Given the description of an element on the screen output the (x, y) to click on. 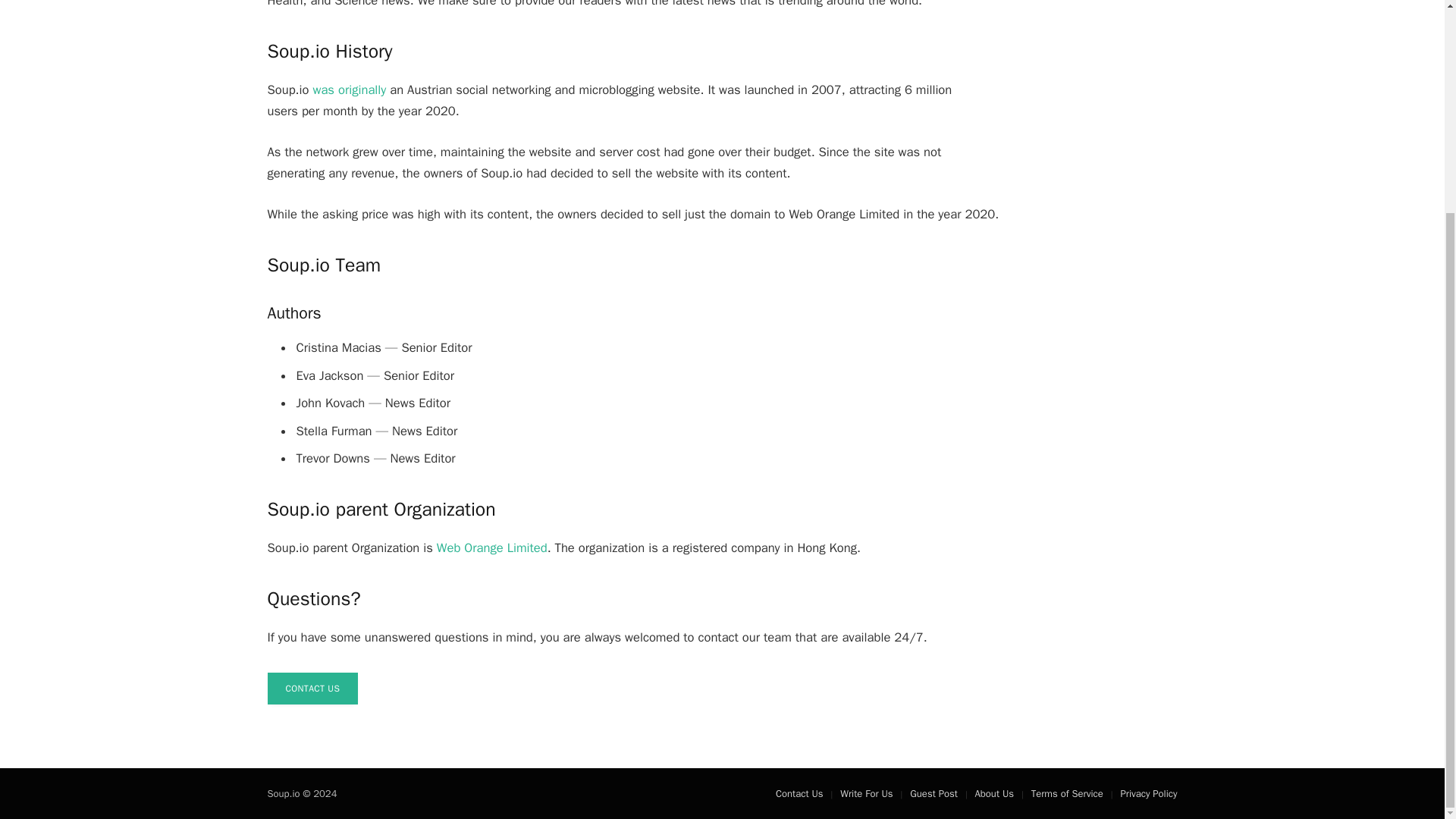
Guest Post (934, 793)
About Us (994, 793)
Write For Us (866, 793)
Contact Us (800, 793)
Web Orange Limited (491, 547)
was originally (349, 89)
CONTACT US (312, 688)
